Given the description of an element on the screen output the (x, y) to click on. 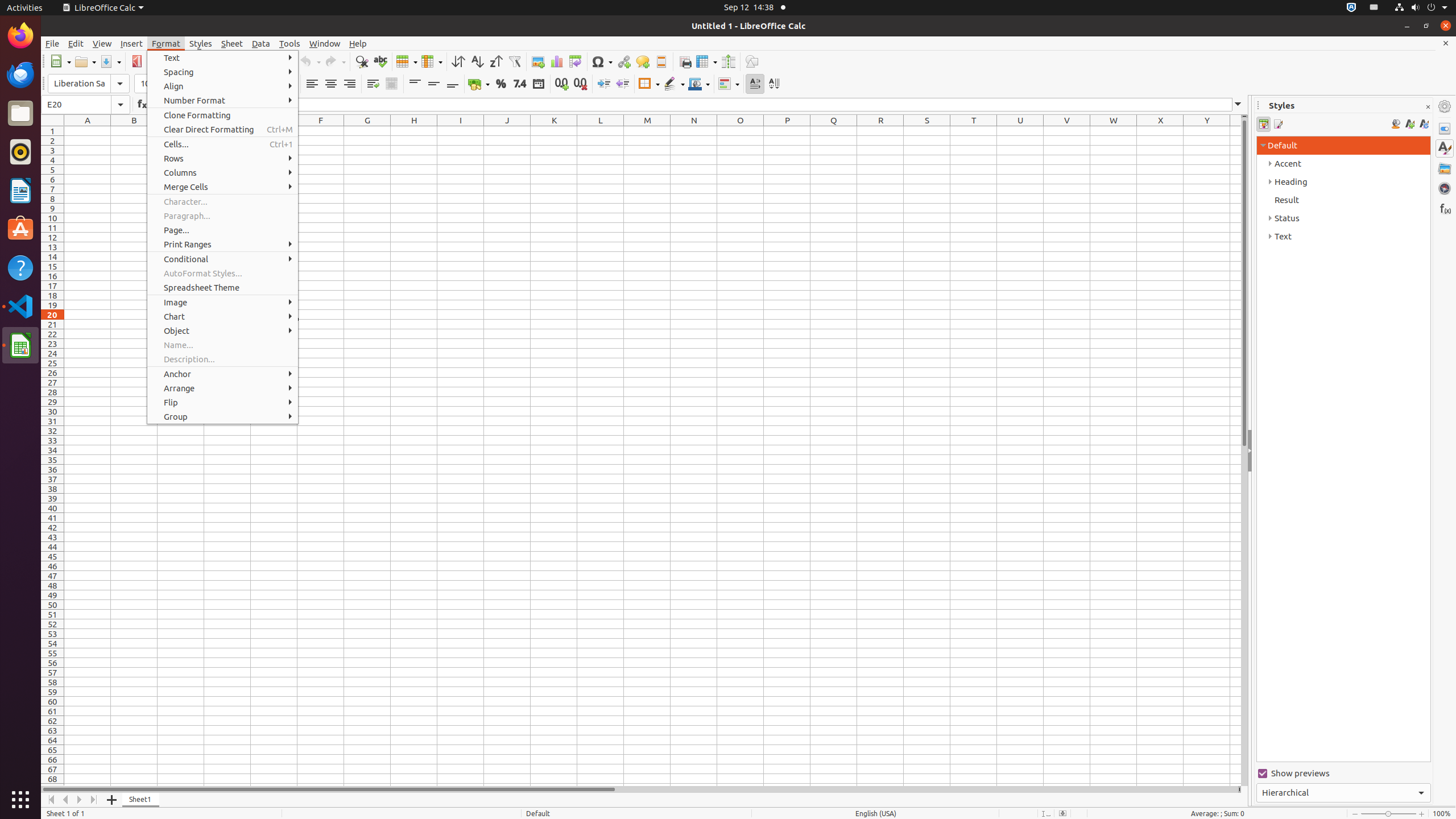
Tools Element type: menu (289, 43)
Image Element type: menu (222, 302)
Chart Element type: menu (222, 316)
Spacing Element type: menu (222, 71)
Sort Descending Element type: push-button (495, 61)
